Given the description of an element on the screen output the (x, y) to click on. 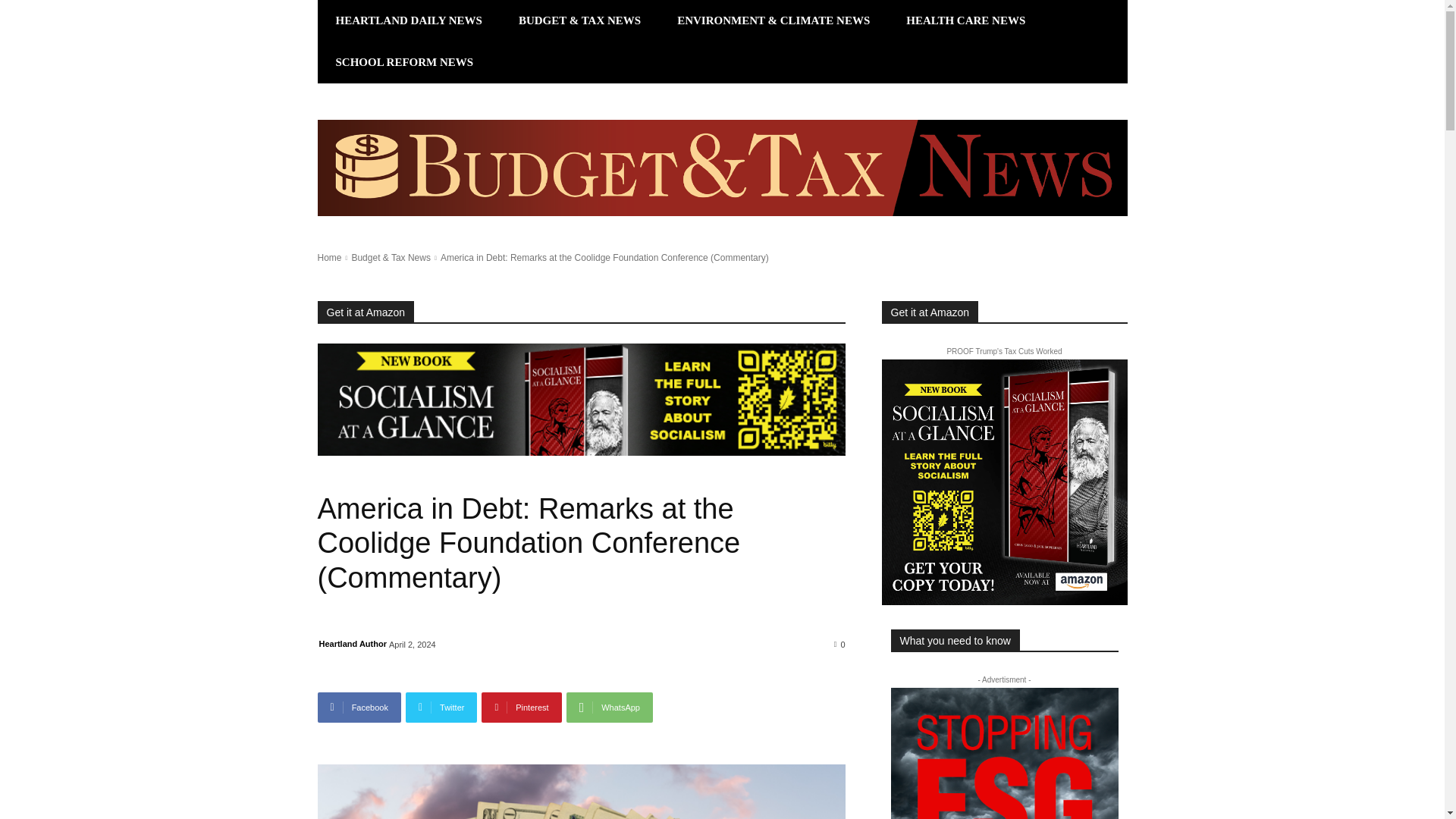
0 (839, 643)
capitol-money-debt (580, 791)
Facebook (358, 707)
Home (328, 257)
HEALTH CARE NEWS (965, 20)
Twitter (441, 707)
Pinterest (520, 707)
Heartland Author (351, 643)
WhatsApp (609, 707)
WhatsApp (609, 707)
Facebook (358, 707)
Get it at Amazon (365, 311)
Twitter (441, 707)
SCHOOL REFORM NEWS (404, 62)
HEARTLAND DAILY NEWS (408, 20)
